Given the description of an element on the screen output the (x, y) to click on. 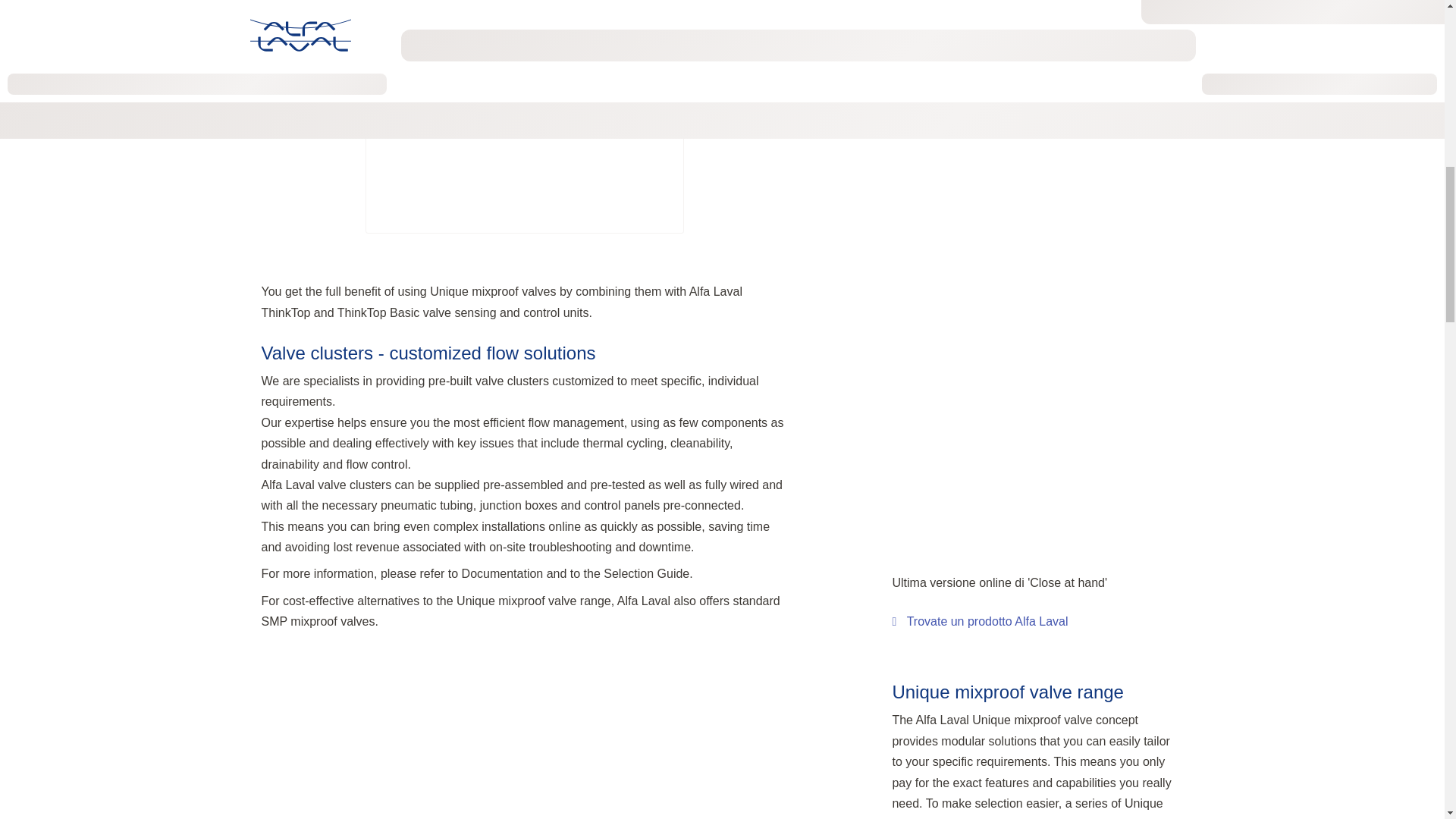
Close at hand (979, 620)
Food logic (1037, 39)
Trovate un prodotto Alfa Laval (979, 620)
